Given the description of an element on the screen output the (x, y) to click on. 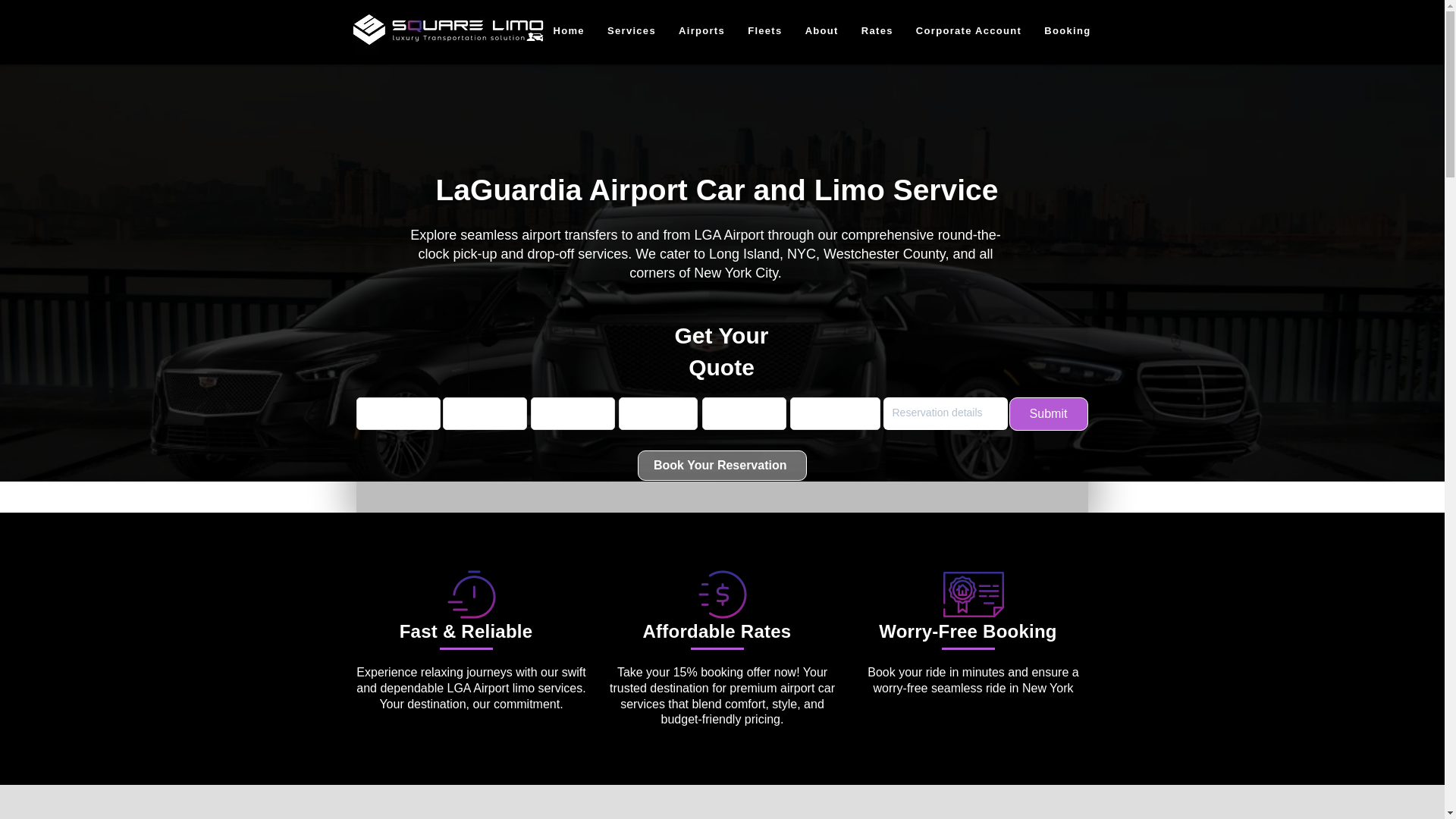
Airports (701, 29)
Corporate Account (968, 29)
Submit (1048, 413)
Rates (877, 29)
About (821, 29)
Fleets (764, 29)
Book Your Reservation (721, 465)
Services (630, 29)
Home (568, 29)
Booking (1067, 29)
